Given the description of an element on the screen output the (x, y) to click on. 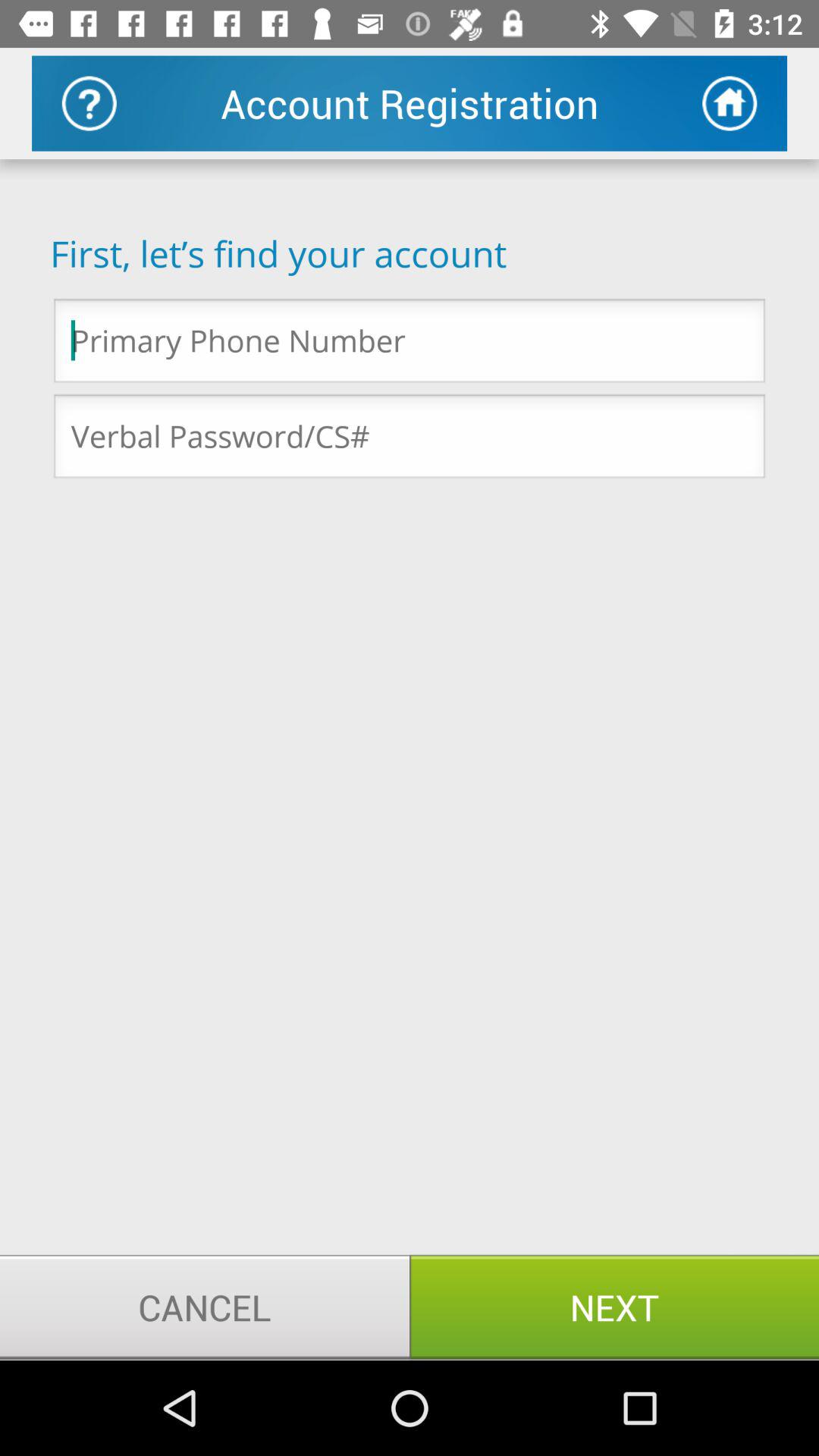
click the next item (614, 1307)
